Given the description of an element on the screen output the (x, y) to click on. 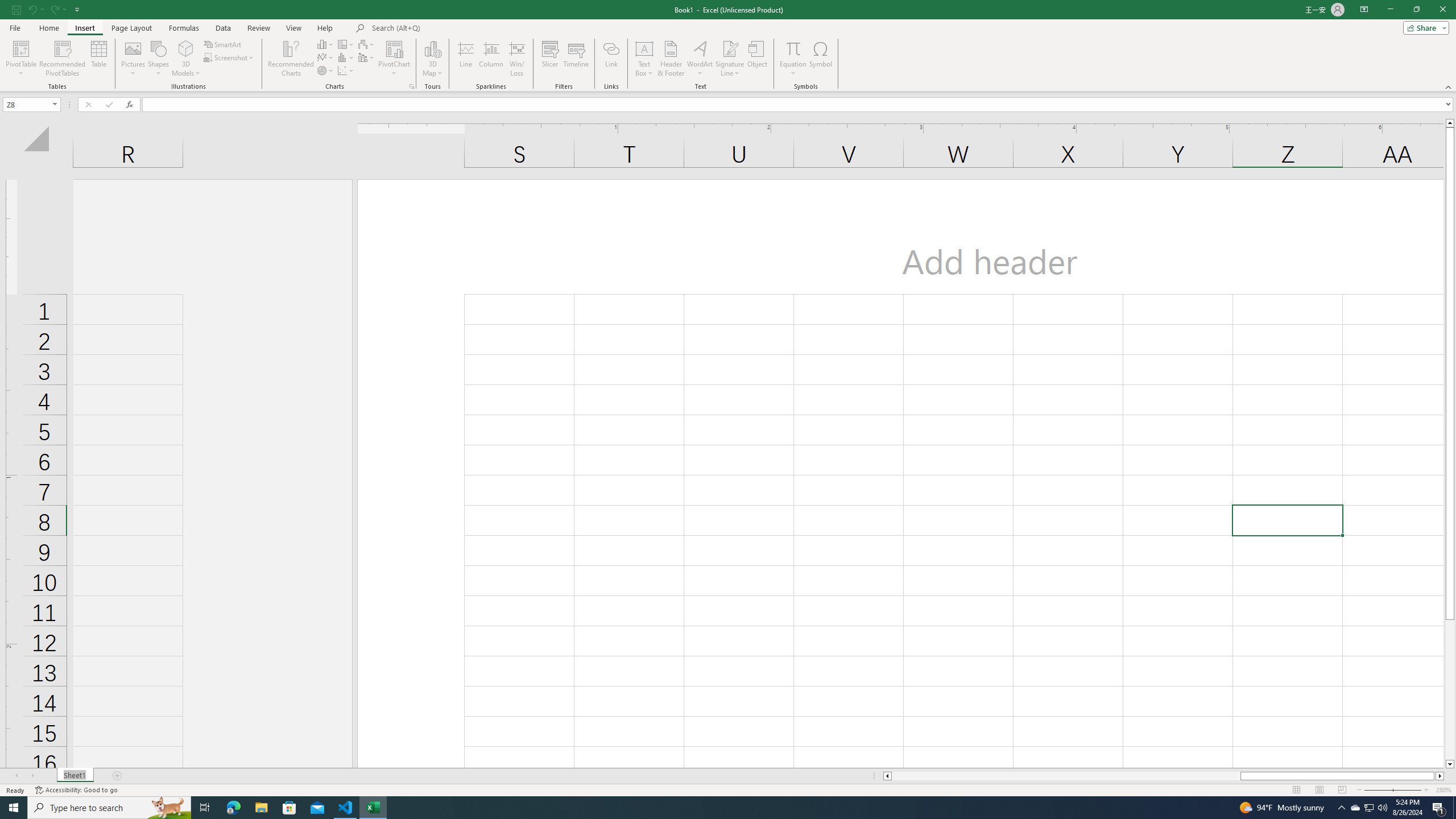
Win/Loss (516, 58)
Insert Waterfall, Funnel, Stock, Surface, or Radar Chart (366, 44)
Line (465, 58)
WordArt (699, 58)
Insert Statistic Chart (346, 56)
Pictures (133, 58)
